Given the description of an element on the screen output the (x, y) to click on. 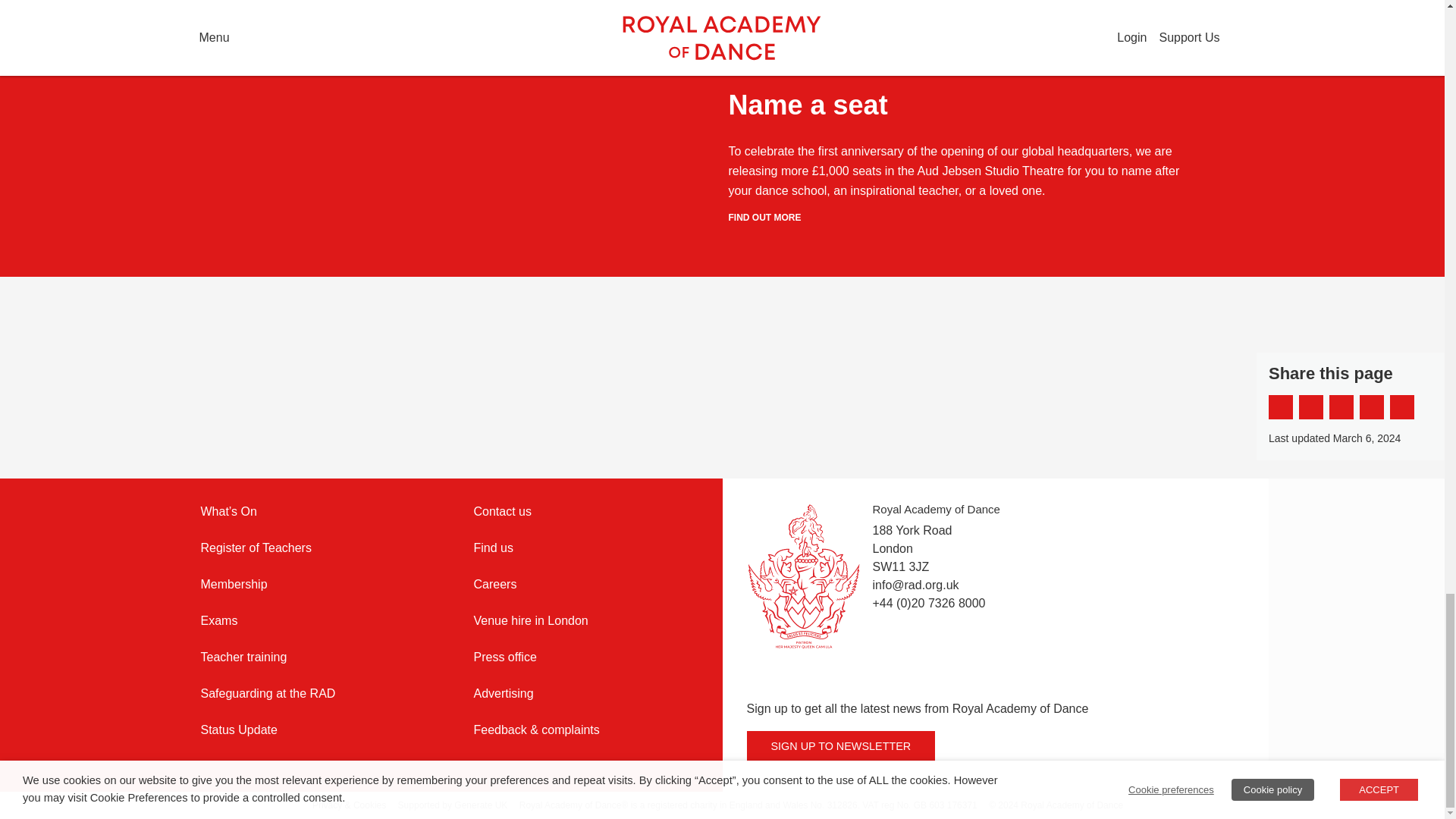
Share this page on linkedin (1371, 406)
Share this page on Facebook (1280, 406)
Share this page via email (1341, 406)
Share this page on Twitter (1310, 406)
Share this page using Whatsapp (1401, 406)
